Given the description of an element on the screen output the (x, y) to click on. 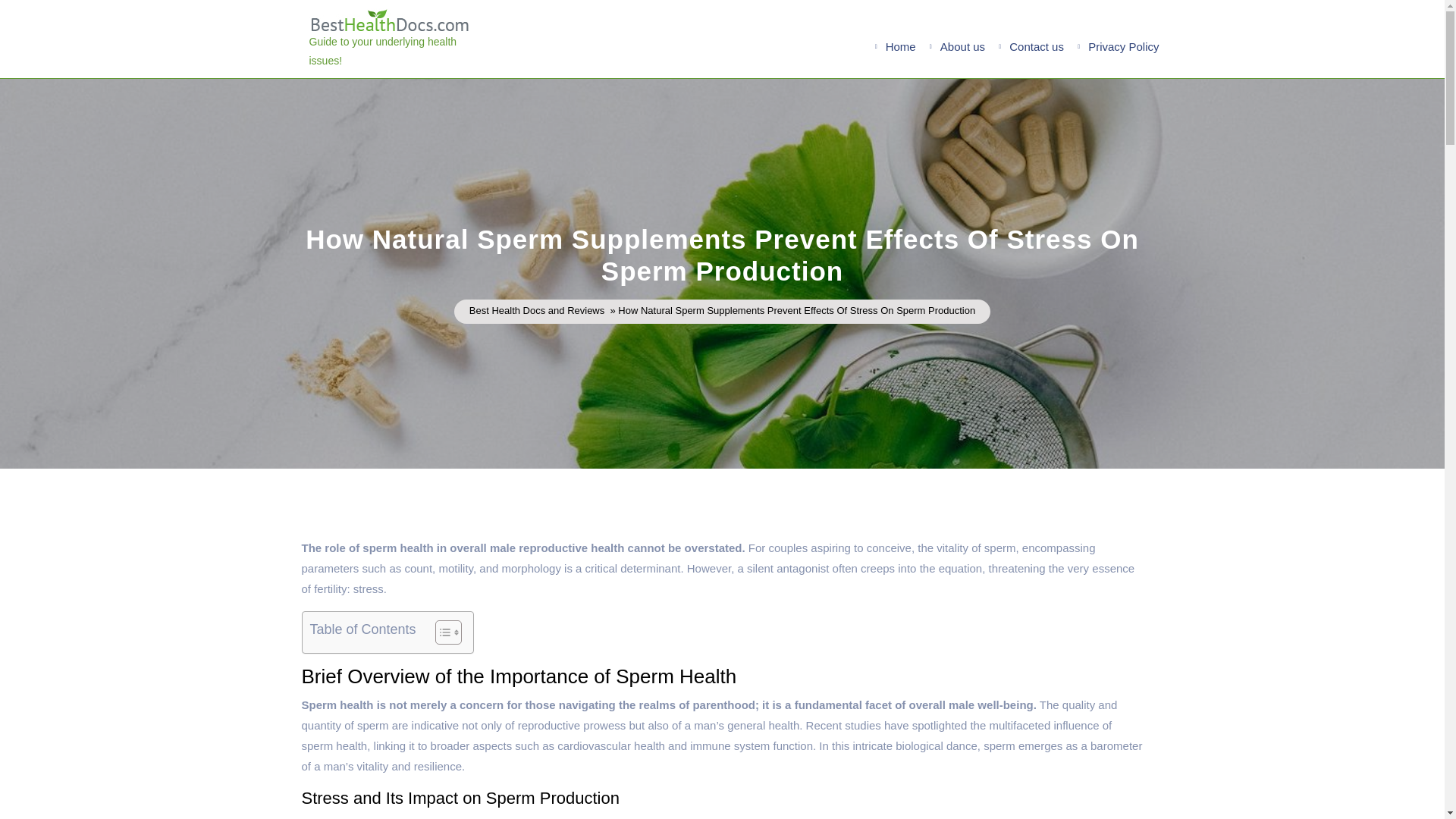
Home (900, 46)
Best Health Docs and Reviews (536, 310)
About us (962, 46)
Contact us (1036, 46)
Privacy Policy (1123, 46)
